Given the description of an element on the screen output the (x, y) to click on. 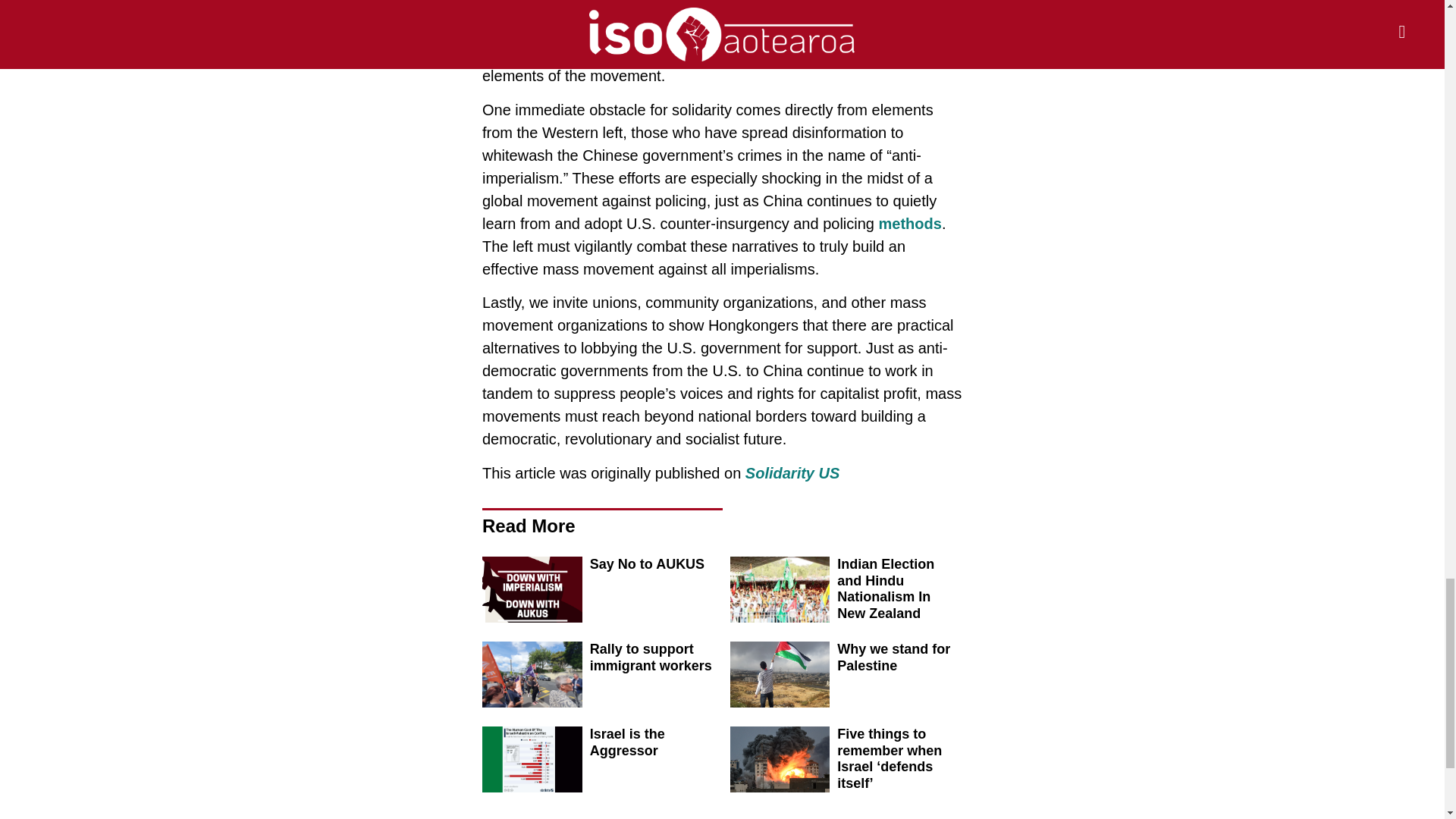
Rally to support immigrant workers (650, 657)
Israel is the Aggressor (627, 742)
Why we stand for Palestine (893, 657)
methods (910, 223)
Indian Election and Hindu Nationalism In New Zealand (885, 588)
Solidarity US (792, 473)
Say No to AUKUS (646, 563)
